Given the description of an element on the screen output the (x, y) to click on. 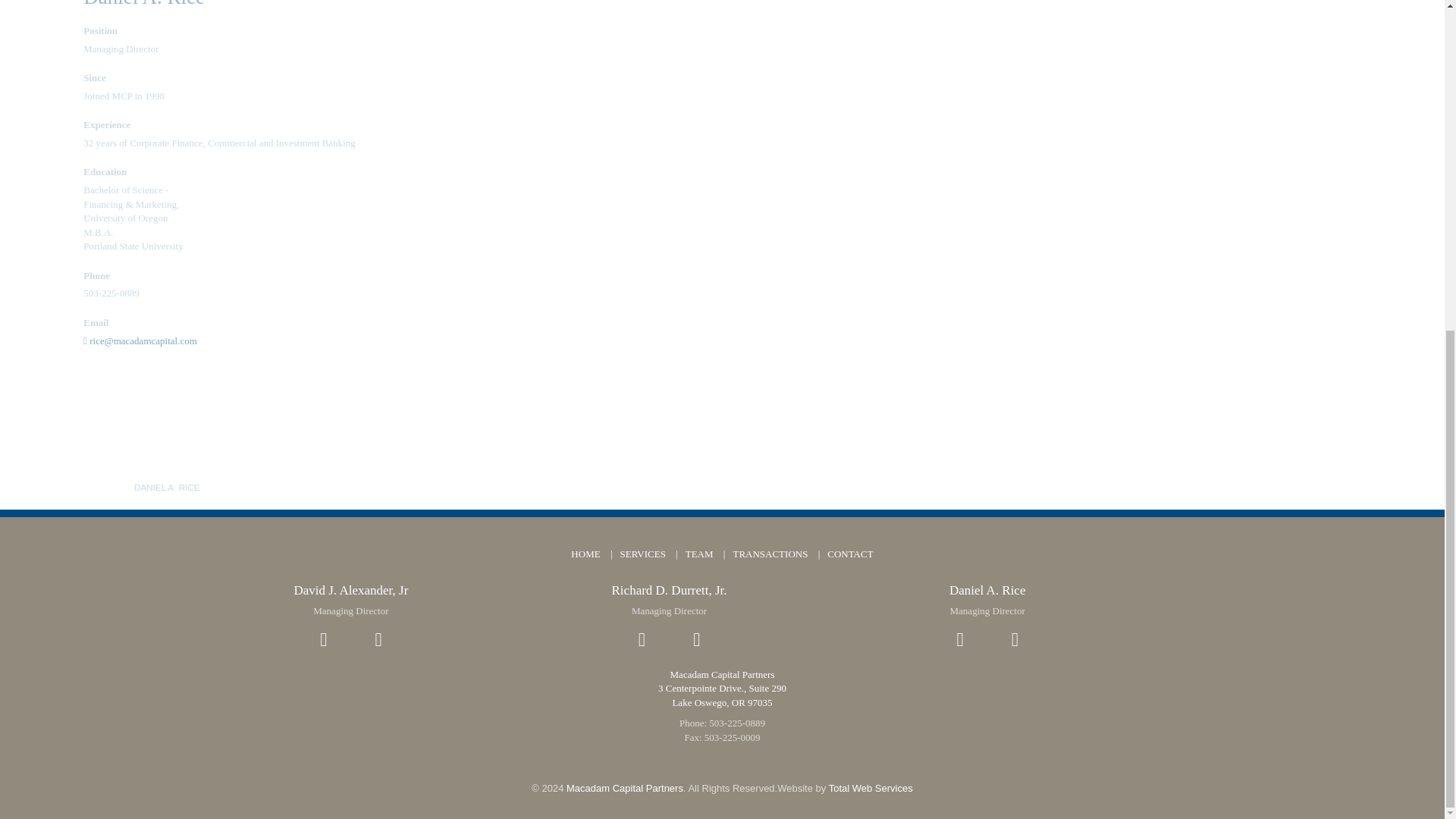
David J. Alexander, Jr (350, 590)
Macadam Capital Partners (624, 787)
TEAM (87, 487)
DANIEL A. RICE (167, 487)
Richard D. Durrett, Jr. (668, 590)
CONTACT (849, 553)
SERVICES (641, 553)
TEAM (697, 553)
Total Web Services (870, 787)
Team (87, 487)
HOME (585, 553)
TRANSACTIONS (769, 553)
Daniel A. Rice (987, 590)
